Given the description of an element on the screen output the (x, y) to click on. 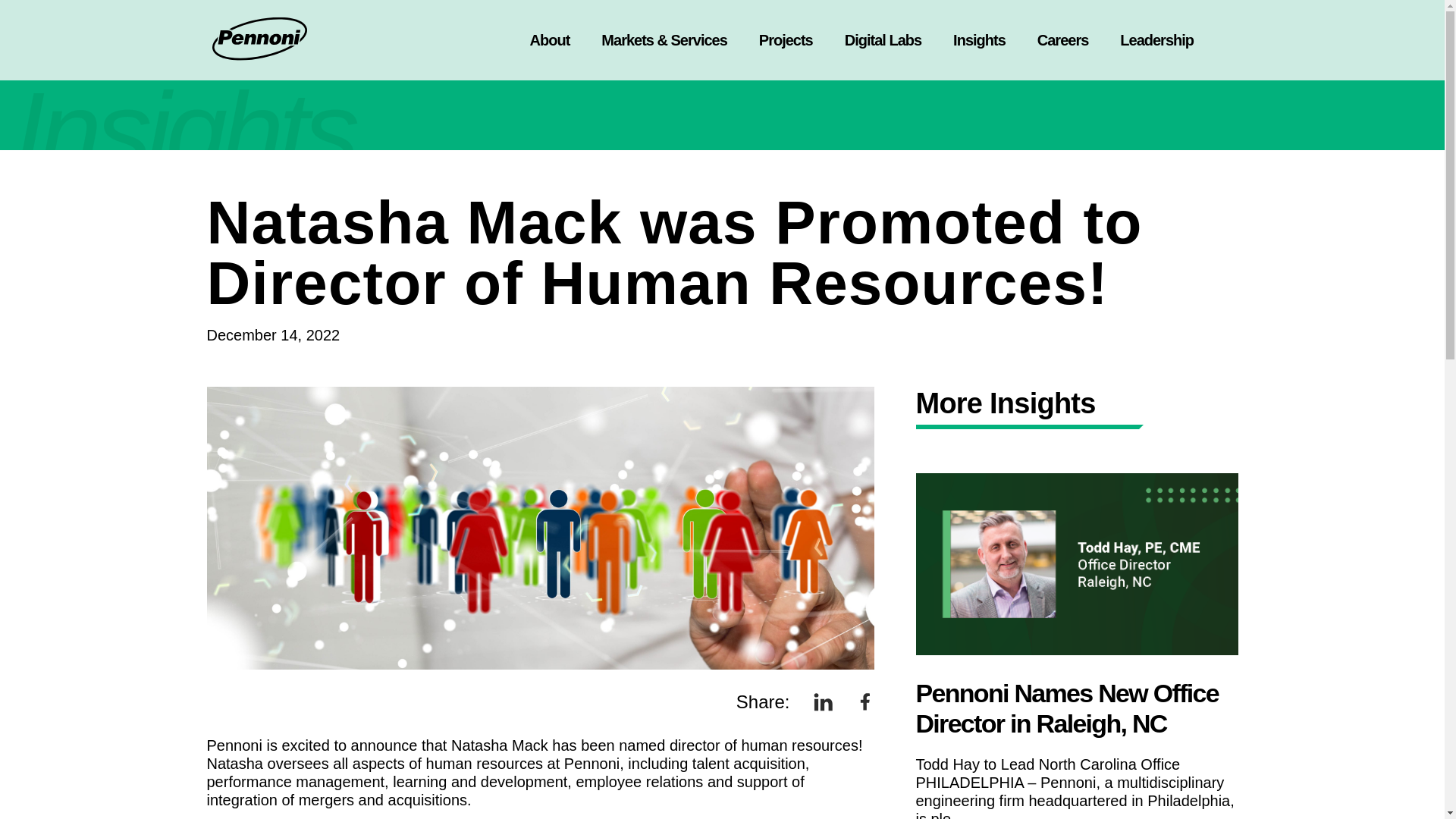
Careers (1062, 40)
Projects (785, 40)
Insights (979, 40)
Digital Labs (883, 40)
About (550, 40)
Leadership (1156, 40)
